Given the description of an element on the screen output the (x, y) to click on. 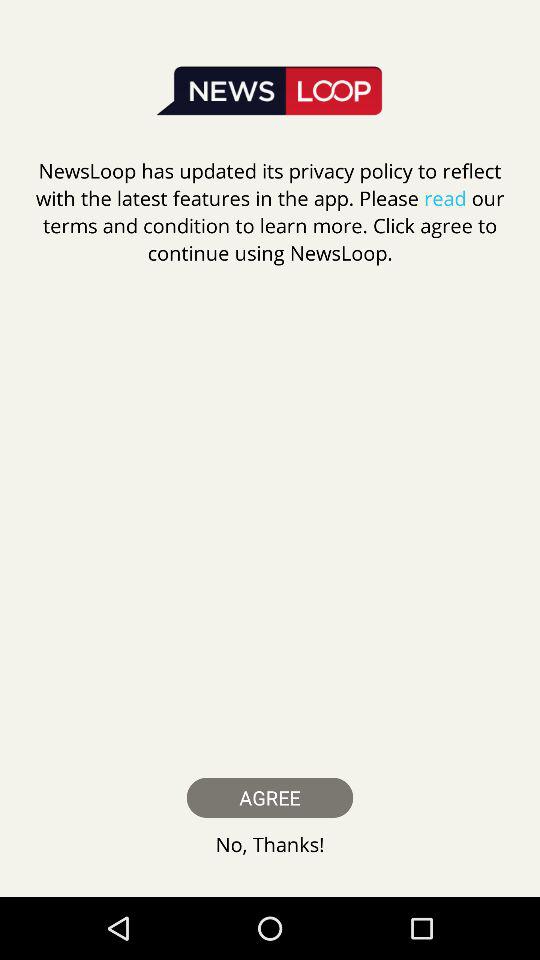
select icon below agree item (269, 844)
